Given the description of an element on the screen output the (x, y) to click on. 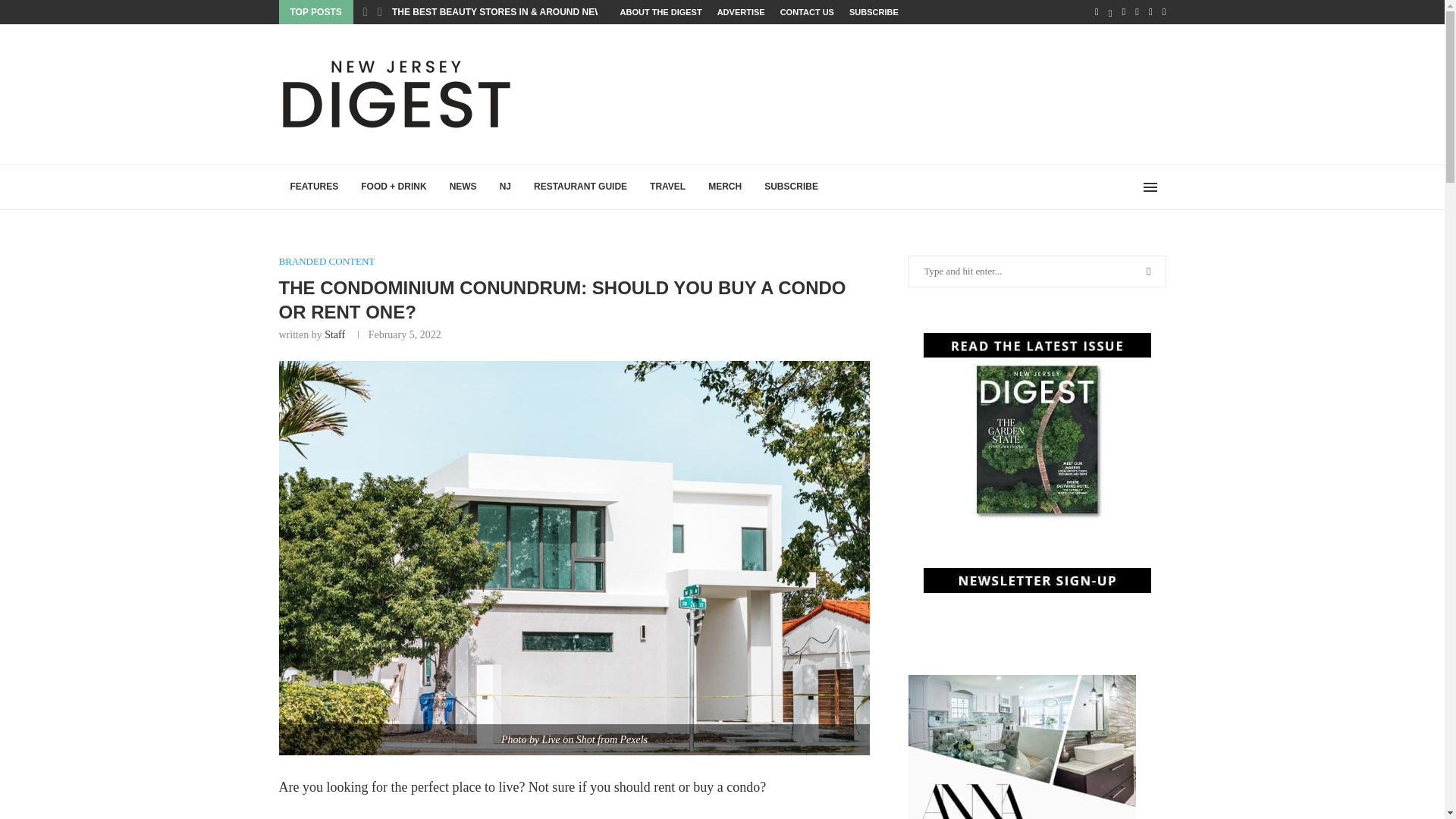
FEATURES (314, 186)
BRANDED CONTENT (327, 261)
ADVERTISE (741, 12)
RESTAURANT GUIDE (580, 186)
SUBSCRIBE (790, 186)
CONTACT US (807, 12)
TRAVEL (668, 186)
ABOUT THE DIGEST (660, 12)
MERCH (724, 186)
SUBSCRIBE (873, 12)
Staff (334, 334)
NEWS (462, 186)
